Given the description of an element on the screen output the (x, y) to click on. 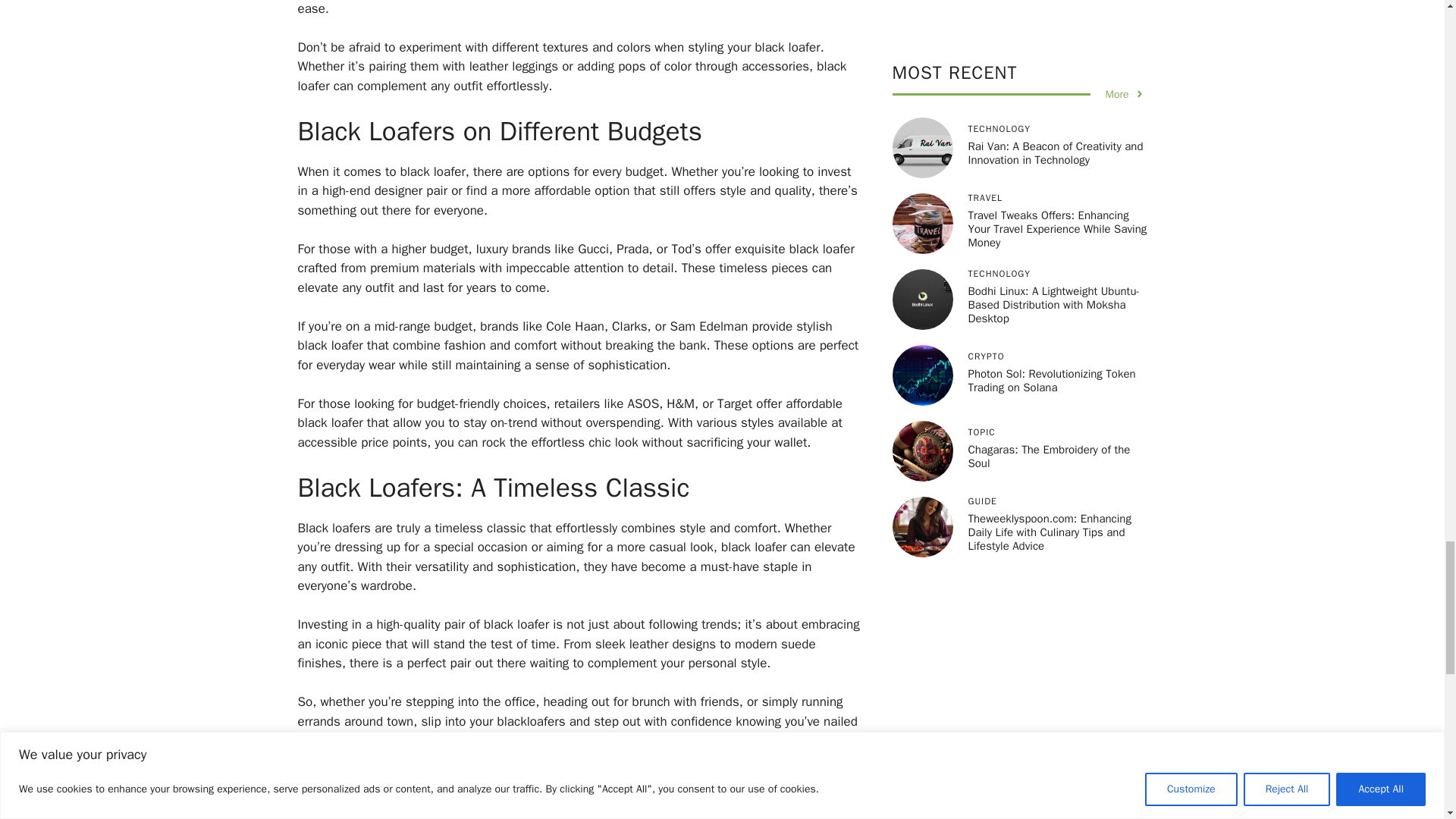
Luke Combs Net Worth Revealed: Diving into the Numbers (454, 814)
Fashion (333, 798)
